Given the description of an element on the screen output the (x, y) to click on. 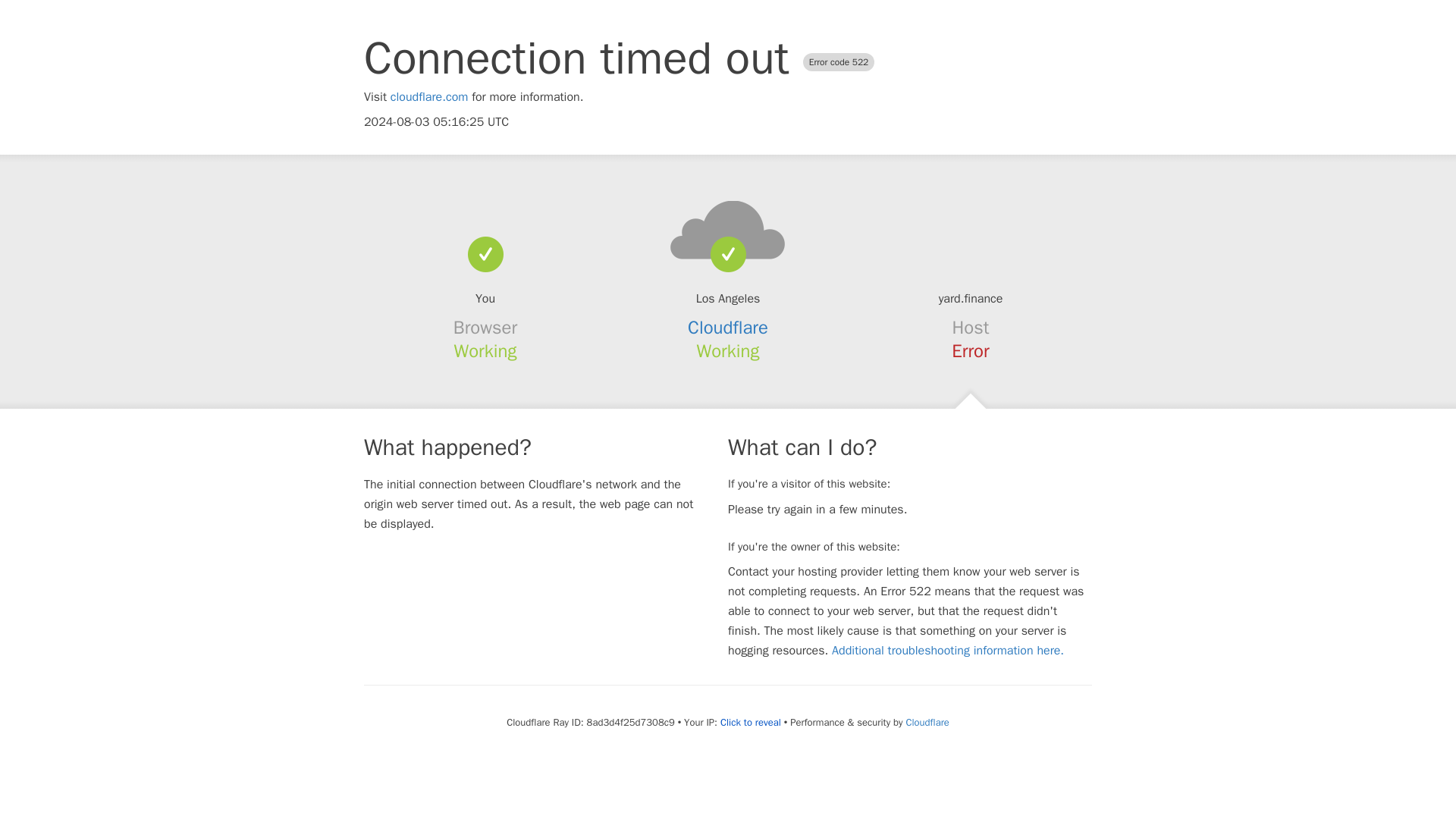
Cloudflare (727, 327)
cloudflare.com (429, 96)
Click to reveal (750, 722)
Additional troubleshooting information here. (947, 650)
Cloudflare (927, 721)
